Given the description of an element on the screen output the (x, y) to click on. 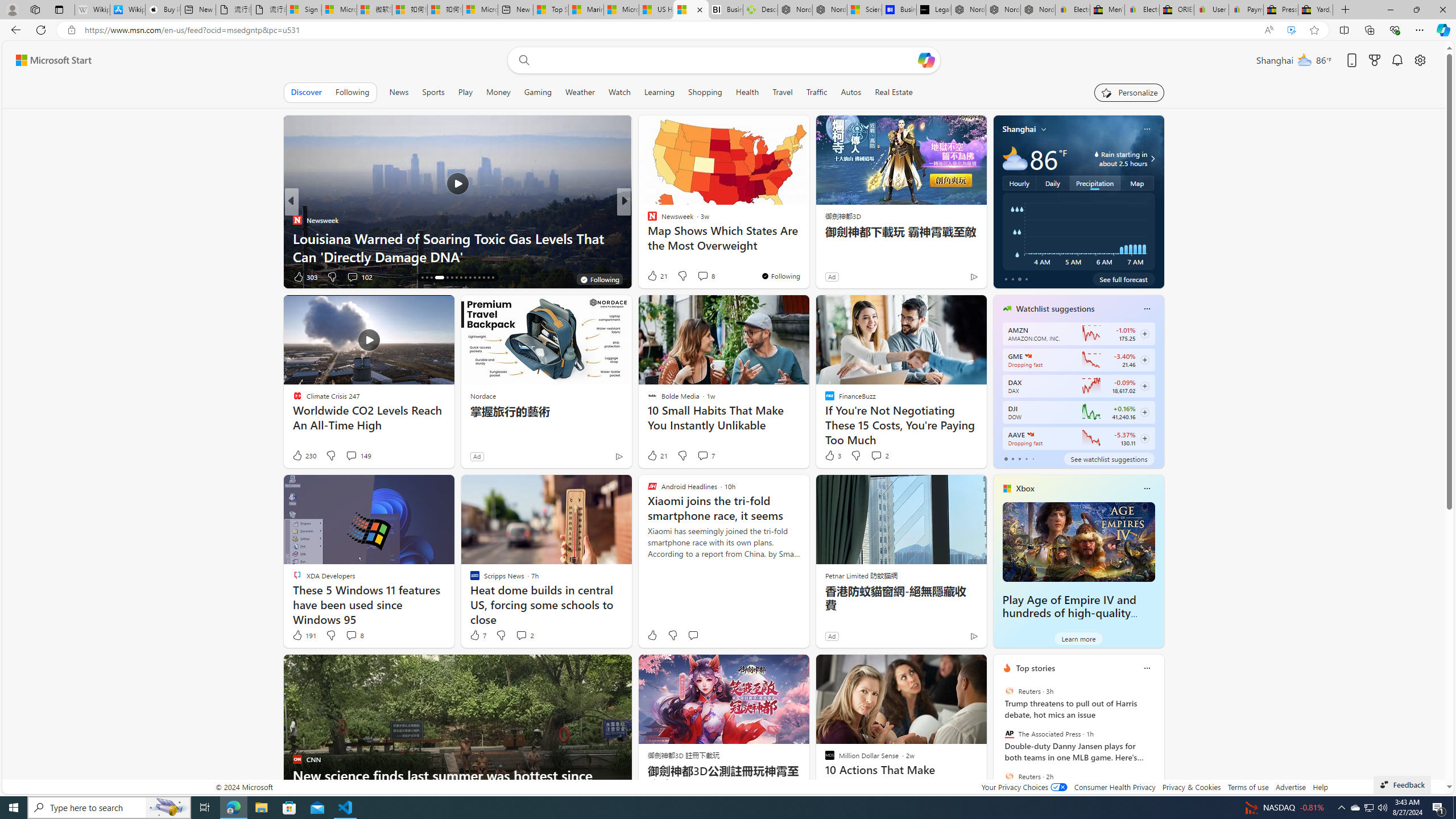
AutomationID: tab-21 (451, 277)
AutomationID: tab-29 (488, 277)
View comments 102 Comment (352, 276)
10 Like (652, 276)
View comments 18 Comment (6, 276)
191 Like (303, 634)
Axios Login (647, 238)
Mostly cloudy (1014, 158)
303 Like (304, 276)
AutomationID: tab-20 (446, 277)
Class: weather-arrow-glyph (1152, 158)
AutomationID: tab-23 (460, 277)
